Given the description of an element on the screen output the (x, y) to click on. 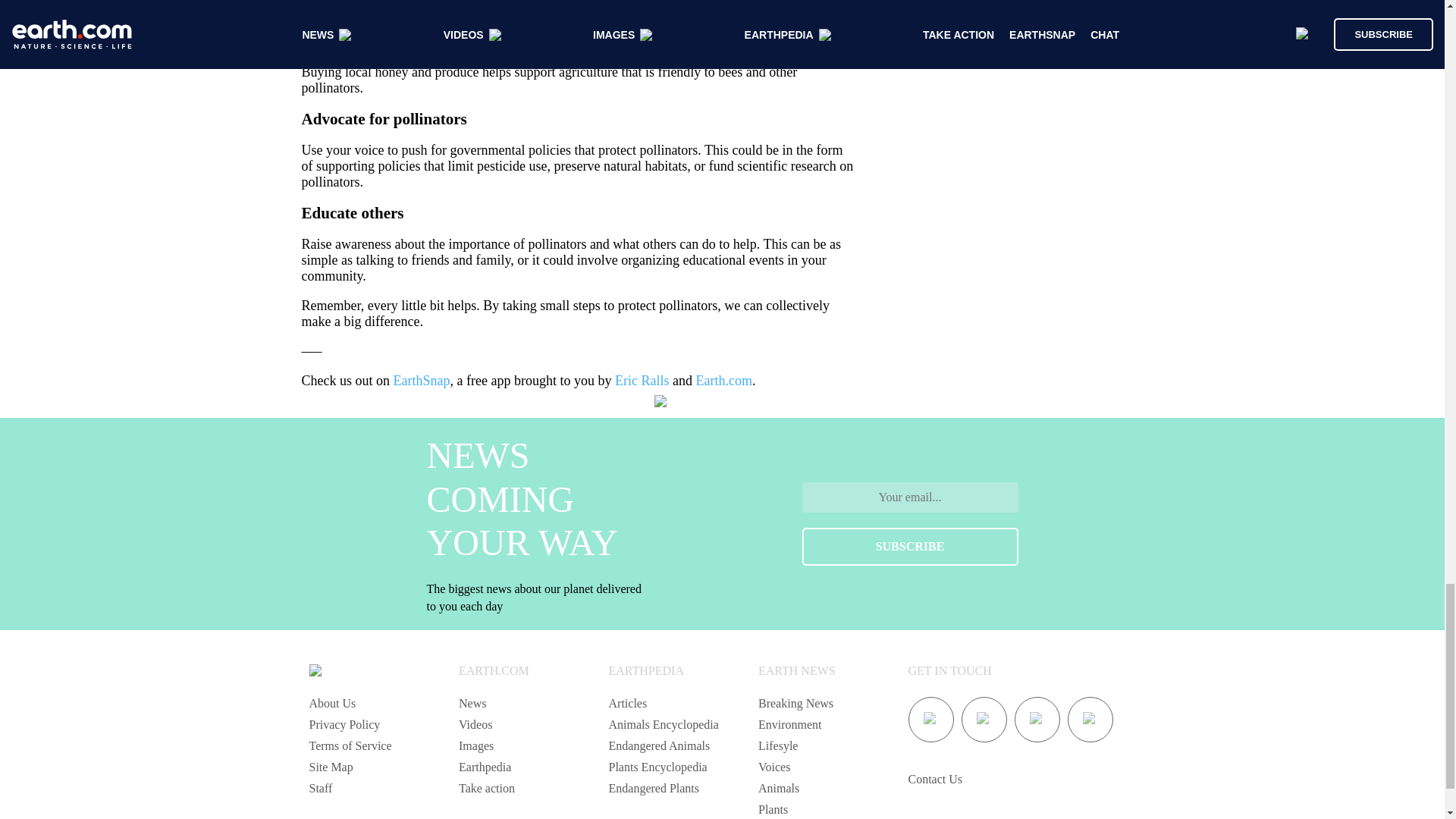
EarthSnap (421, 380)
Earth.com (723, 380)
Eric Ralls (641, 380)
